Given the description of an element on the screen output the (x, y) to click on. 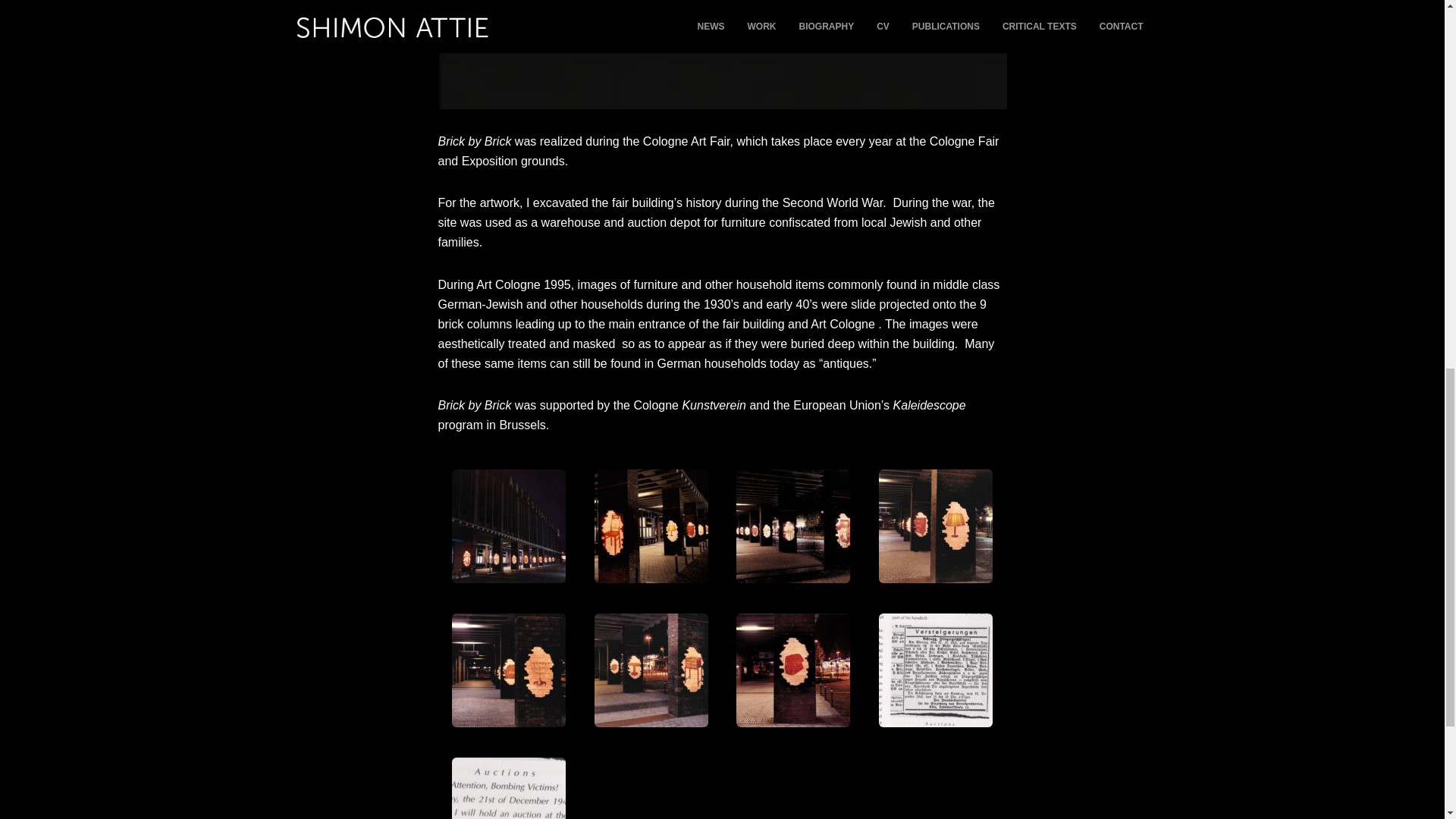
Play video "Brick by Brick Video Documentation" (722, 54)
